Given the description of an element on the screen output the (x, y) to click on. 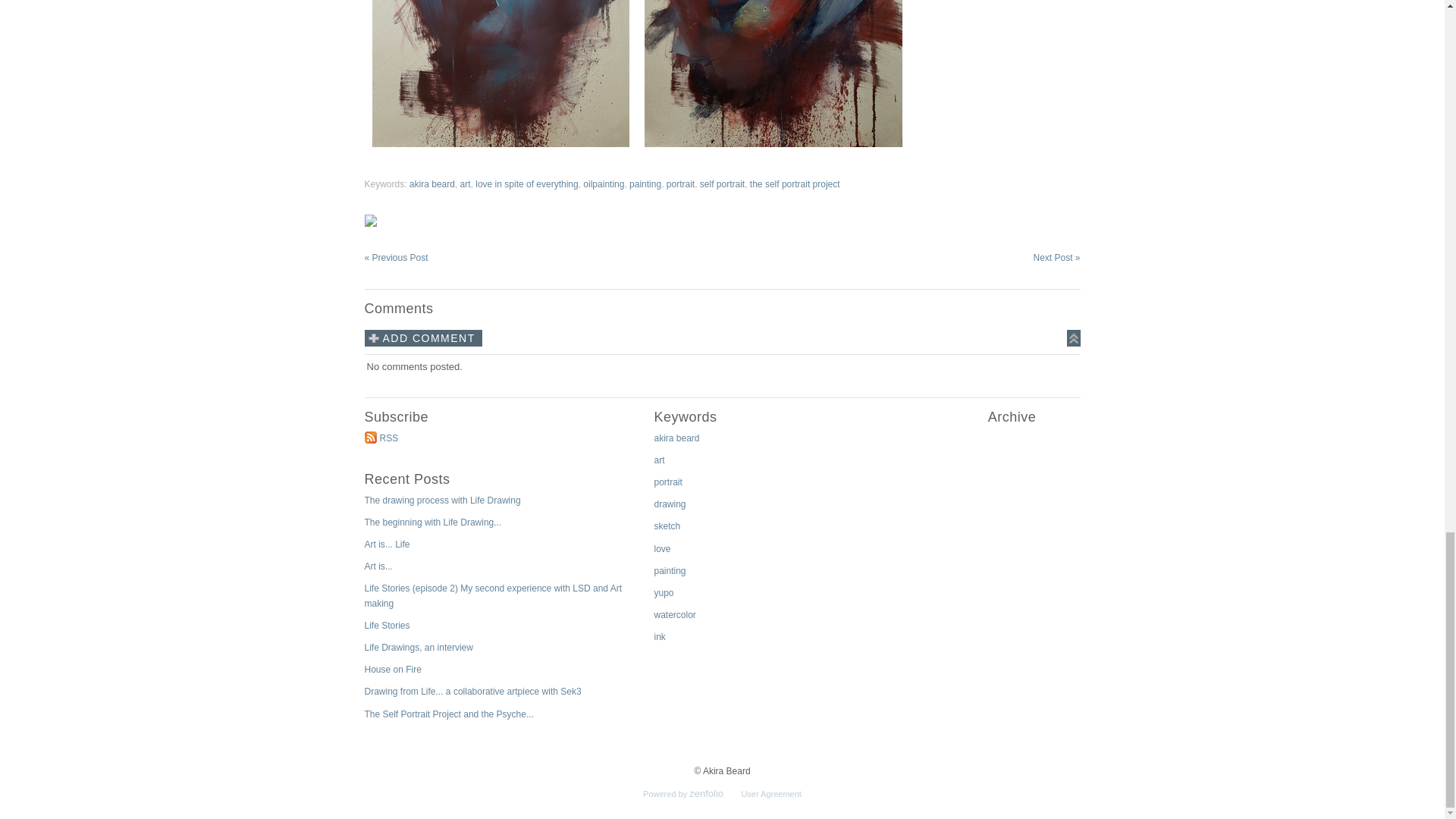
art (465, 184)
love in spite of everything (527, 184)
portrait (680, 184)
akira beard (431, 184)
self portrait (722, 184)
oilpainting (603, 184)
the self portrait project (794, 184)
painting (644, 184)
